Given the description of an element on the screen output the (x, y) to click on. 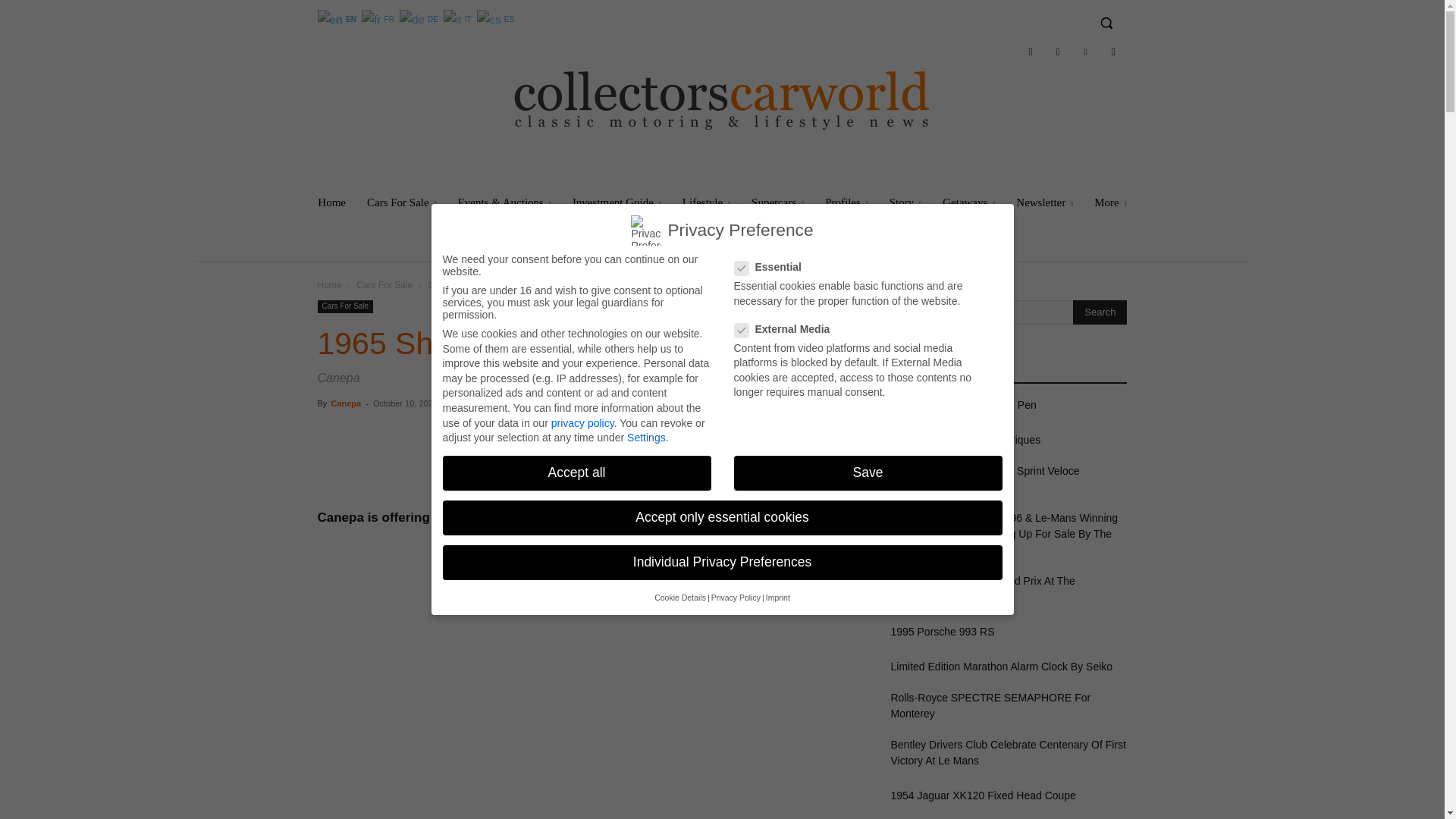
Pinterest (1085, 51)
Search (1099, 312)
ES (496, 18)
Facebook (1029, 51)
French (378, 18)
Italian (459, 18)
EN (337, 18)
DE (419, 18)
English (337, 18)
Spanish (496, 18)
